Given the description of an element on the screen output the (x, y) to click on. 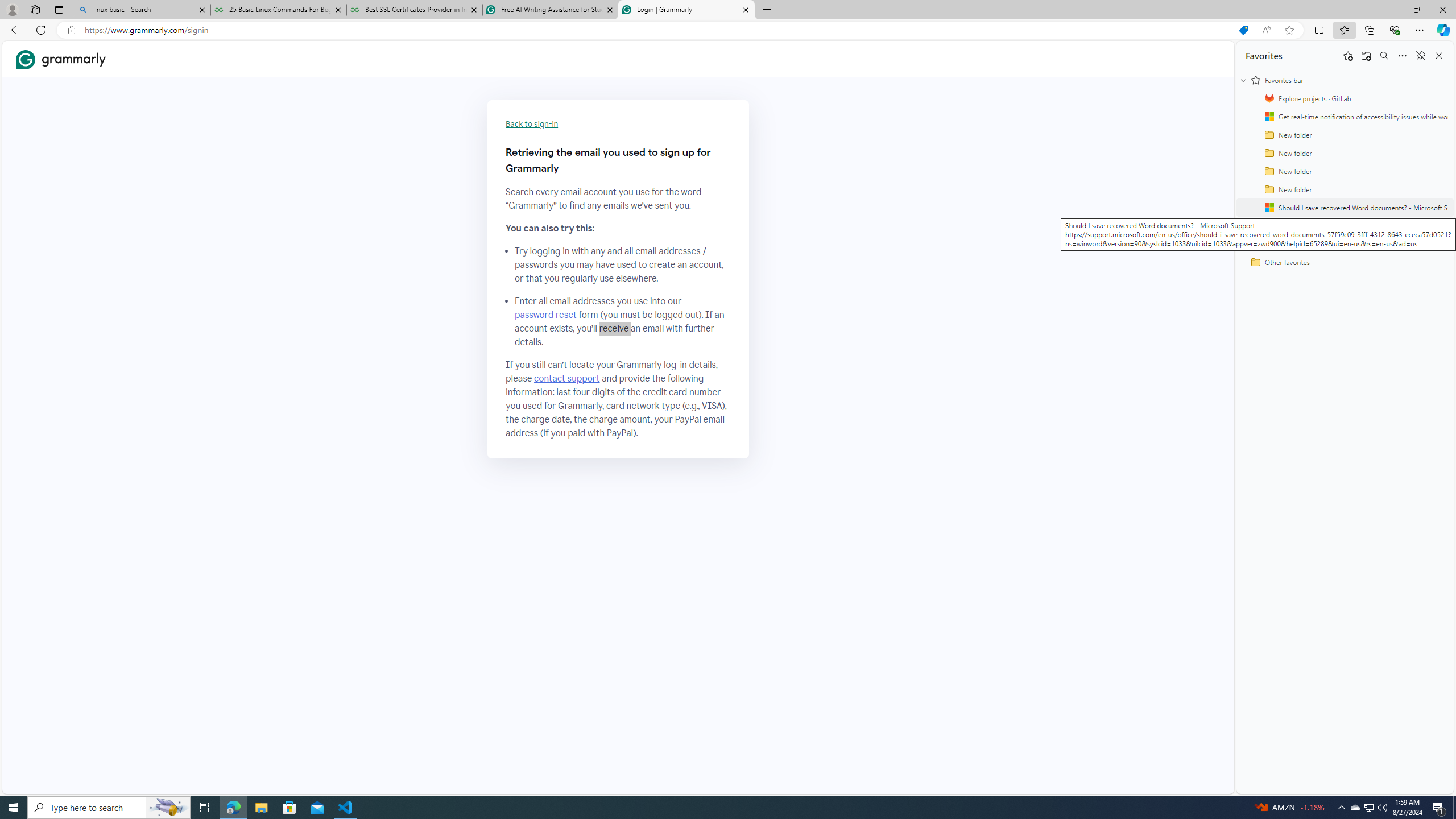
Free AI Writing Assistance for Students | Grammarly (550, 9)
Unpin favorites (1420, 55)
Close favorites (1439, 55)
Grammarly Home (61, 59)
Grammarly Home (61, 58)
25 Basic Linux Commands For Beginners - GeeksforGeeks (277, 9)
